Given the description of an element on the screen output the (x, y) to click on. 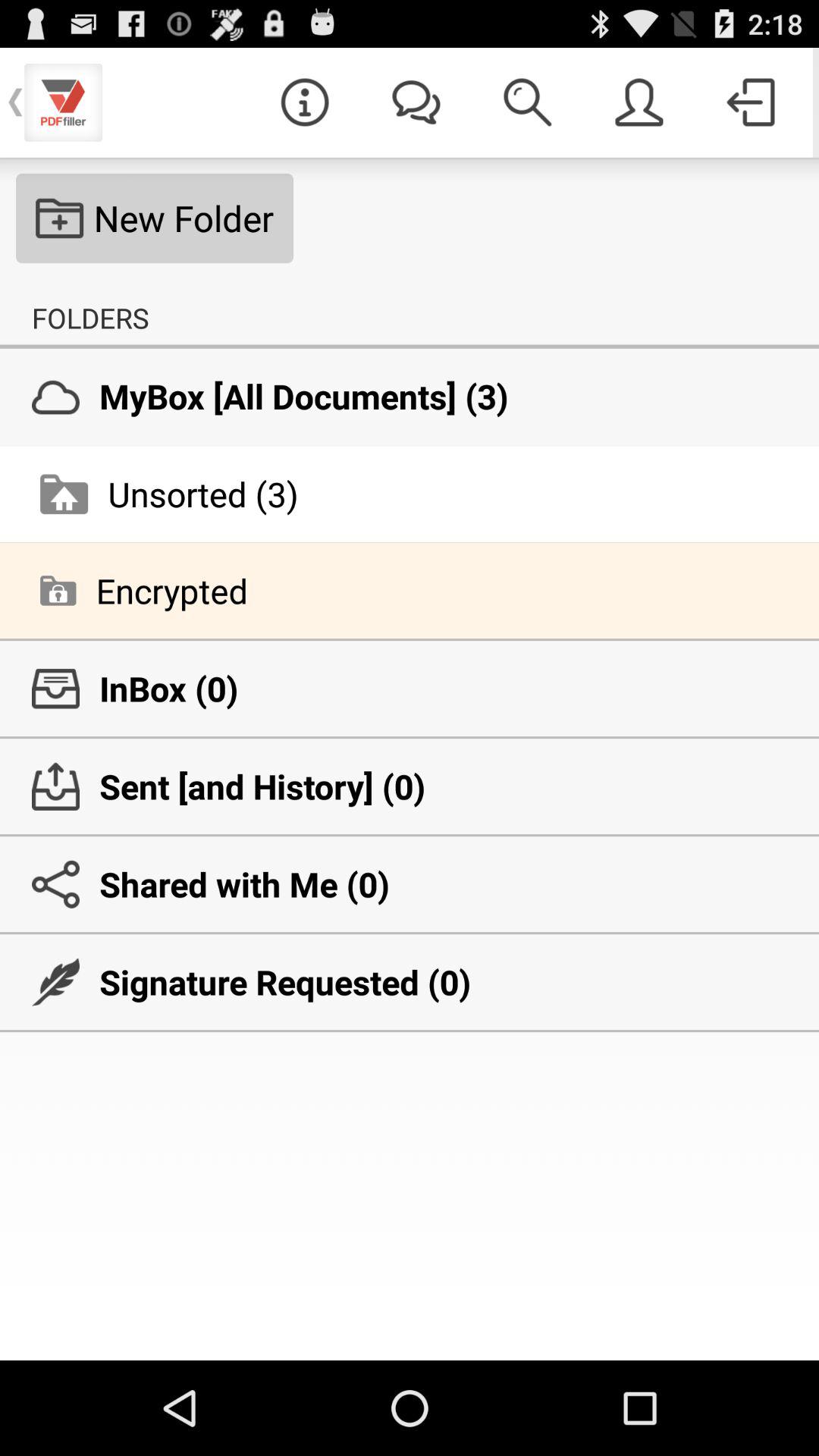
open icon above folders icon (154, 218)
